Given the description of an element on the screen output the (x, y) to click on. 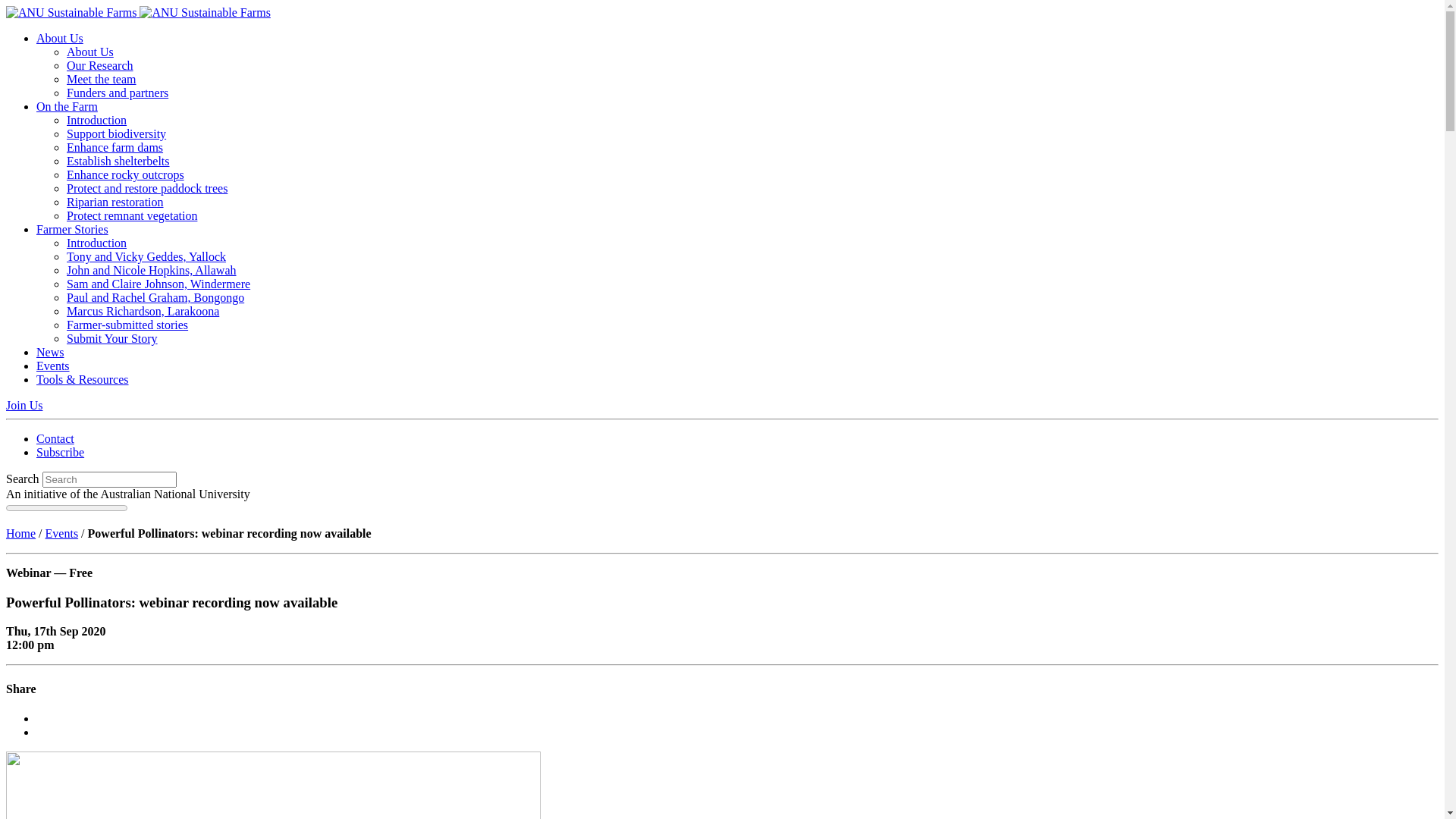
On the Farm Element type: text (66, 106)
Sam and Claire Johnson, Windermere Element type: text (158, 283)
About Us Element type: text (89, 51)
Introduction Element type: text (96, 119)
Our Research Element type: text (99, 65)
Establish shelterbelts Element type: text (117, 160)
Funders and partners Element type: text (117, 92)
Join Us Element type: text (24, 404)
Subscribe Element type: text (60, 451)
Riparian restoration Element type: text (114, 201)
Farmer Stories Element type: text (72, 228)
Paul and Rachel Graham, Bongongo Element type: text (155, 297)
Events Element type: text (52, 365)
News Element type: text (49, 351)
Tony and Vicky Geddes, Yallock Element type: text (145, 256)
About Us Element type: text (59, 37)
Protect and restore paddock trees Element type: text (146, 188)
Support biodiversity Element type: text (116, 133)
Introduction Element type: text (96, 242)
Protect remnant vegetation Element type: text (131, 215)
Submit Your Story Element type: text (111, 338)
Meet the team Element type: text (101, 78)
Contact Element type: text (55, 438)
Enhance farm dams Element type: text (114, 147)
Marcus Richardson, Larakoona Element type: text (142, 310)
Enhance rocky outcrops Element type: text (125, 174)
Farmer-submitted stories Element type: text (127, 324)
Events Element type: text (61, 533)
Home Element type: text (20, 533)
Tools & Resources Element type: text (82, 379)
John and Nicole Hopkins, Allawah Element type: text (151, 269)
